Given the description of an element on the screen output the (x, y) to click on. 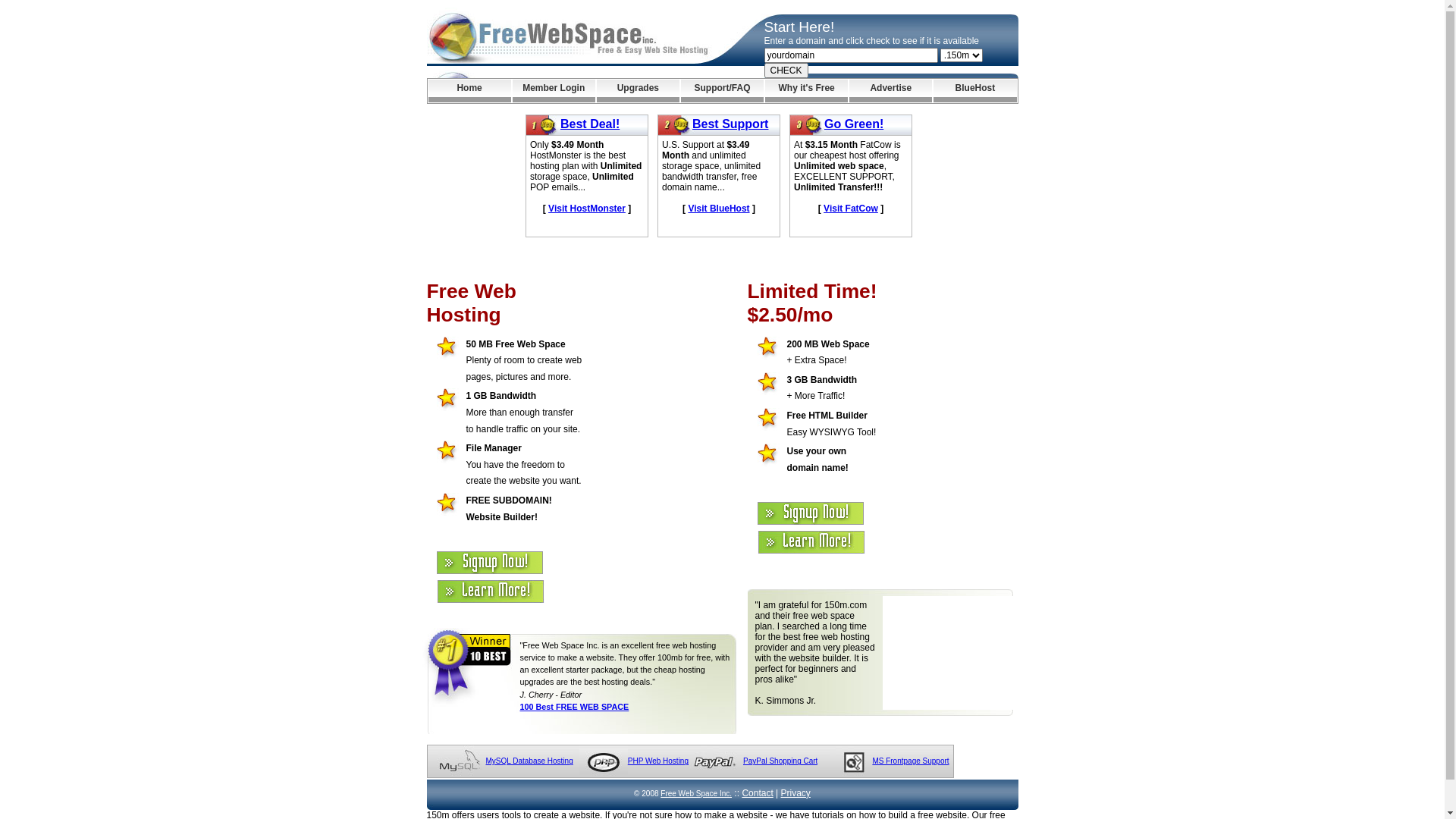
Contact Element type: text (756, 792)
Why it's Free Element type: text (806, 90)
Member Login Element type: text (553, 90)
Support/FAQ Element type: text (721, 90)
PayPal Shopping Cart Element type: text (780, 760)
Privacy Element type: text (795, 792)
MySQL Database Hosting Element type: text (528, 760)
Free Web Space Inc. Element type: text (695, 793)
Home Element type: text (468, 90)
Advertise Element type: text (890, 90)
BlueHost Element type: text (974, 90)
PHP Web Hosting Element type: text (657, 760)
100 Best FREE WEB SPACE Element type: text (574, 706)
CHECK Element type: text (786, 70)
Upgrades Element type: text (637, 90)
MS Frontpage Support Element type: text (910, 760)
